Given the description of an element on the screen output the (x, y) to click on. 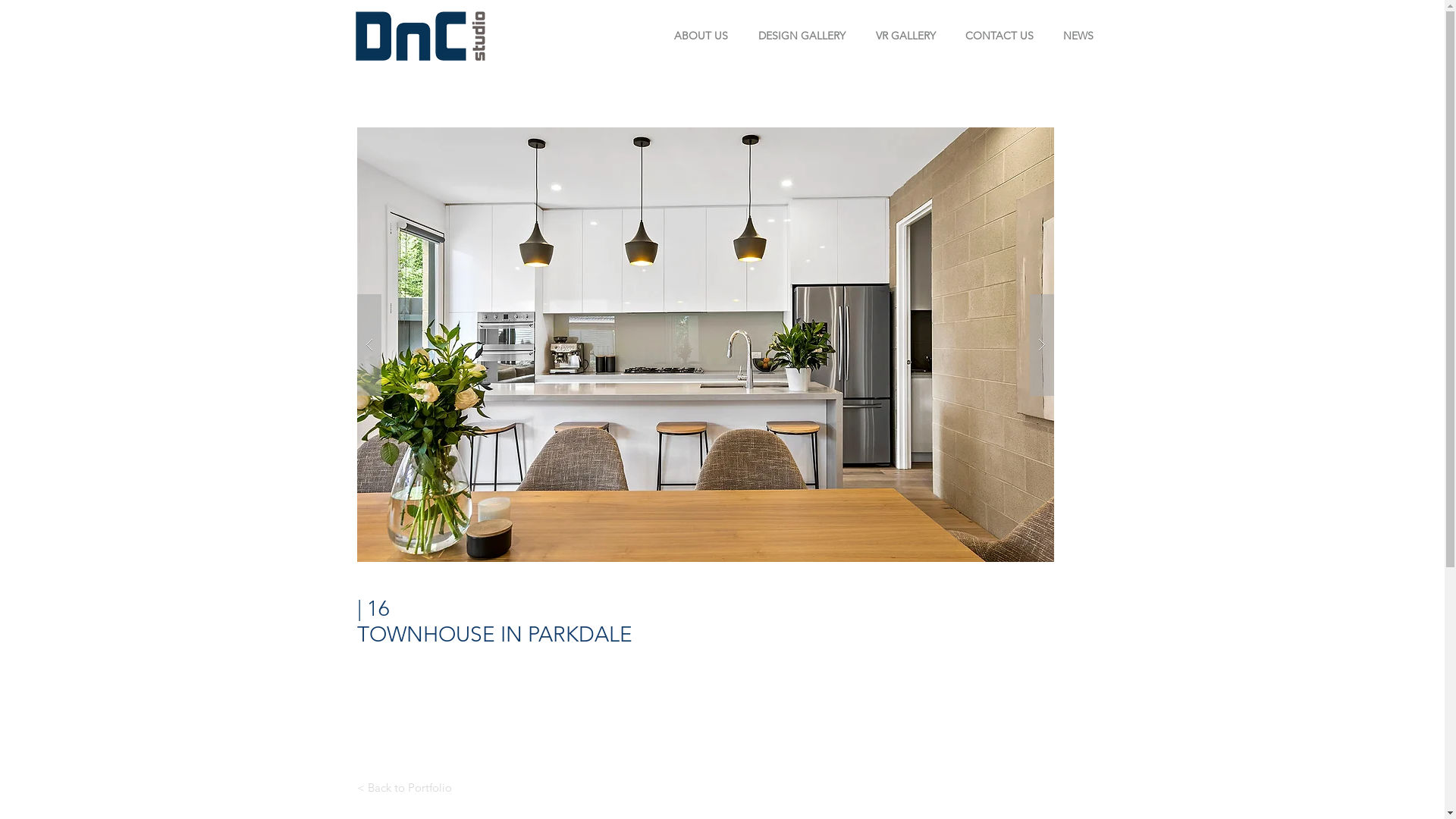
ABOUT US Element type: text (700, 35)
< Back to Portfolio Element type: text (403, 786)
DESIGN GALLERY Element type: text (801, 35)
VR GALLERY Element type: text (904, 35)
CONTACT US Element type: text (999, 35)
NEWS Element type: text (1077, 35)
